Given the description of an element on the screen output the (x, y) to click on. 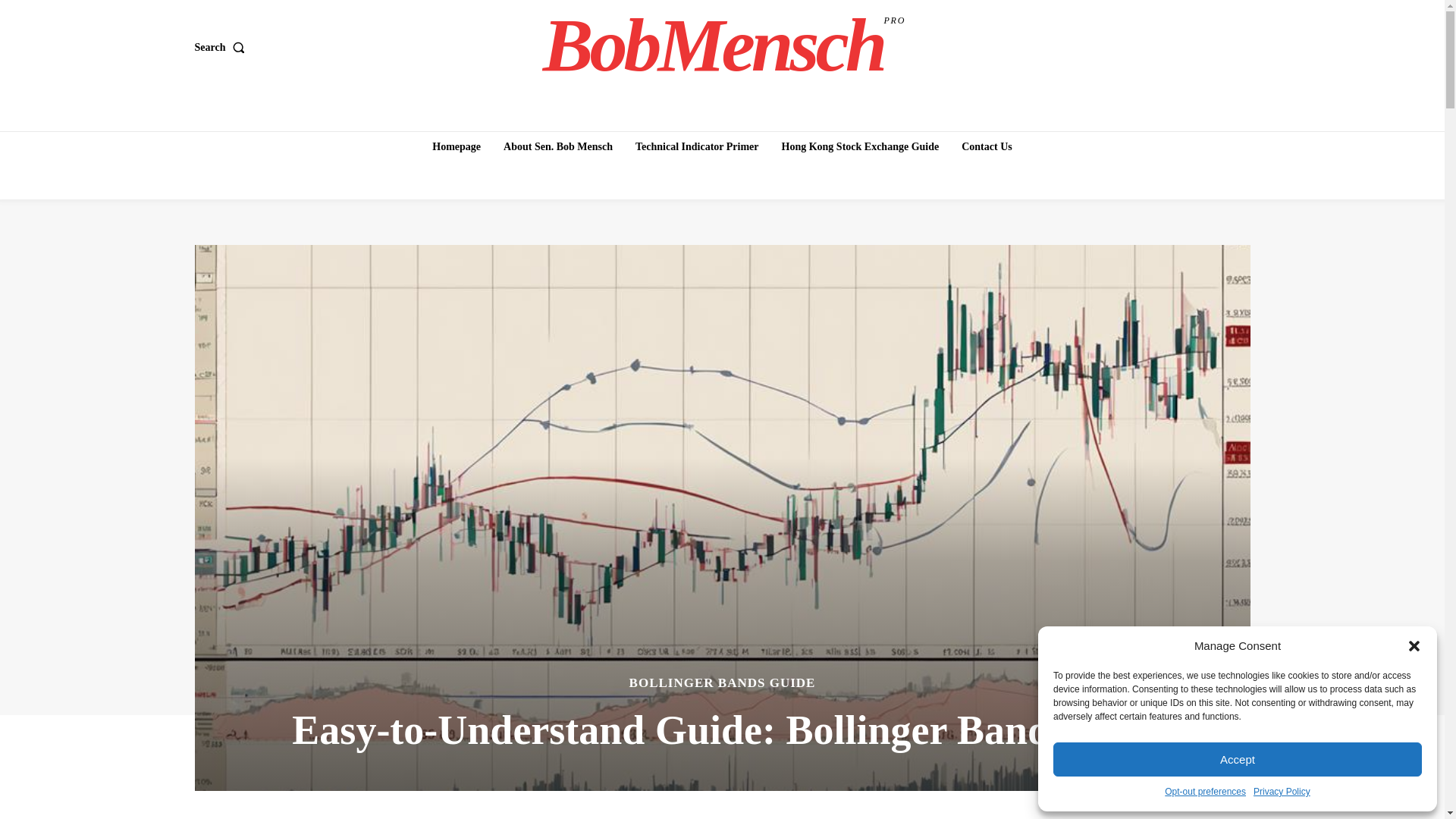
Privacy Policy (1281, 791)
Accept (1237, 759)
Opt-out preferences (1205, 791)
